Given the description of an element on the screen output the (x, y) to click on. 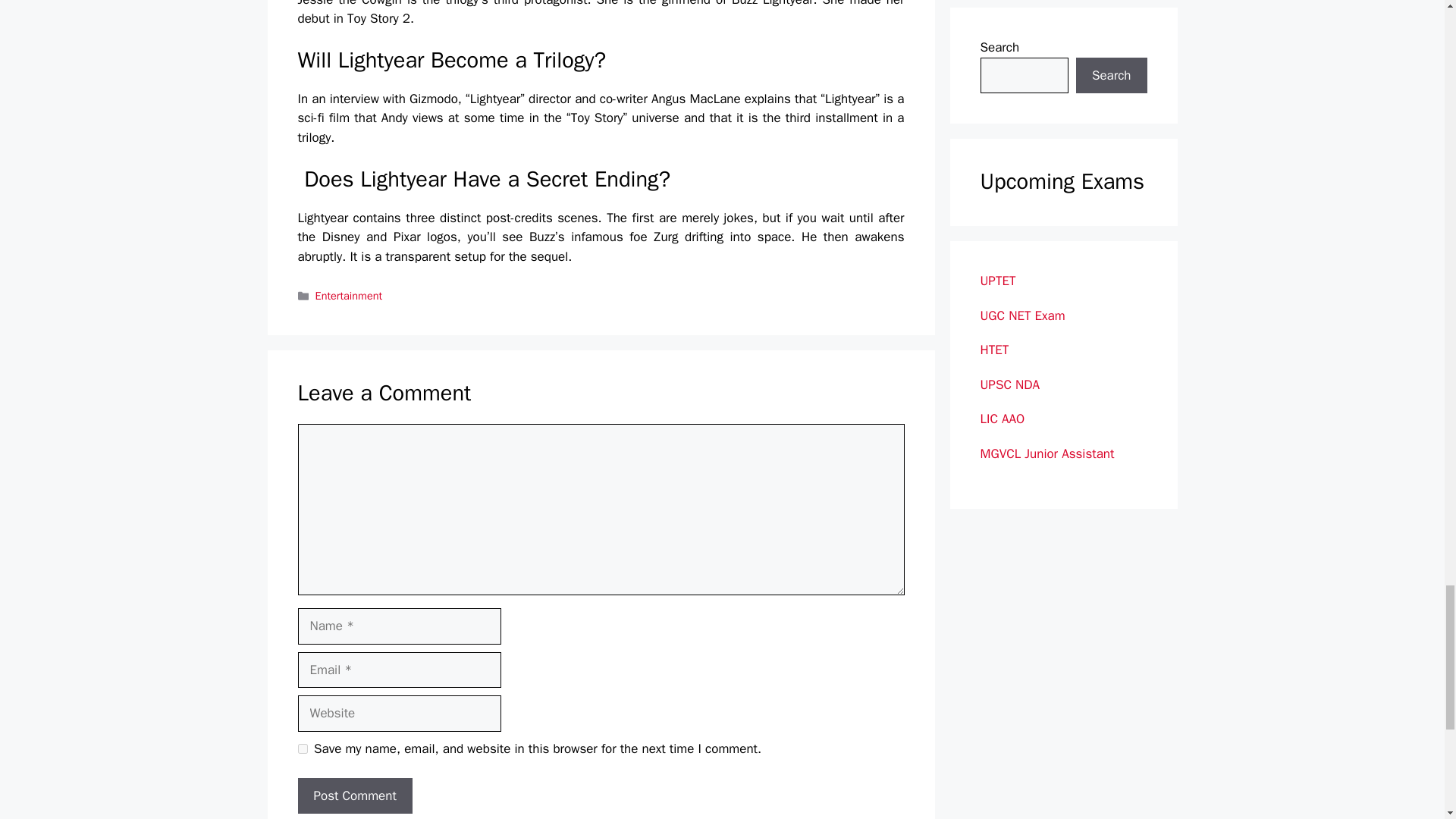
yes (302, 748)
Entertainment (348, 295)
Post Comment (354, 796)
Post Comment (354, 796)
